Given the description of an element on the screen output the (x, y) to click on. 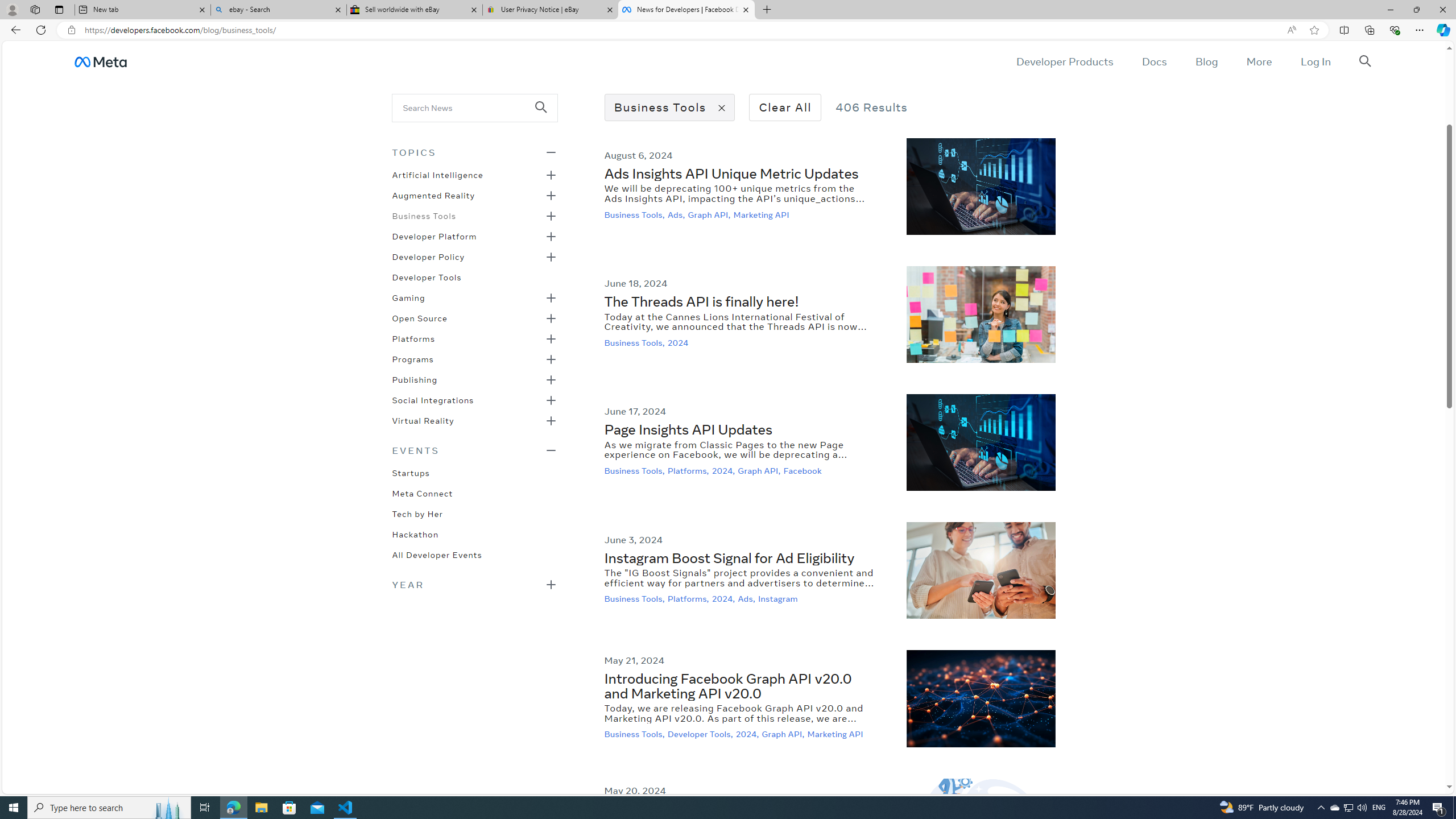
Platforms, (688, 598)
Virtual Reality (422, 419)
Docs (1153, 61)
Class: _9890 _98ey (474, 450)
Augmented Reality (433, 194)
Blog (1205, 61)
Artificial Intelligence (437, 173)
Graph API, (784, 733)
Sell worldwide with eBay (414, 9)
Settings and more (Alt+F) (1419, 29)
All Developer Events (436, 553)
More (1259, 61)
New Tab (766, 9)
Class: _98ex _98ez (474, 423)
AutomationID: u_0_4z_2S (100, 61)
